Given the description of an element on the screen output the (x, y) to click on. 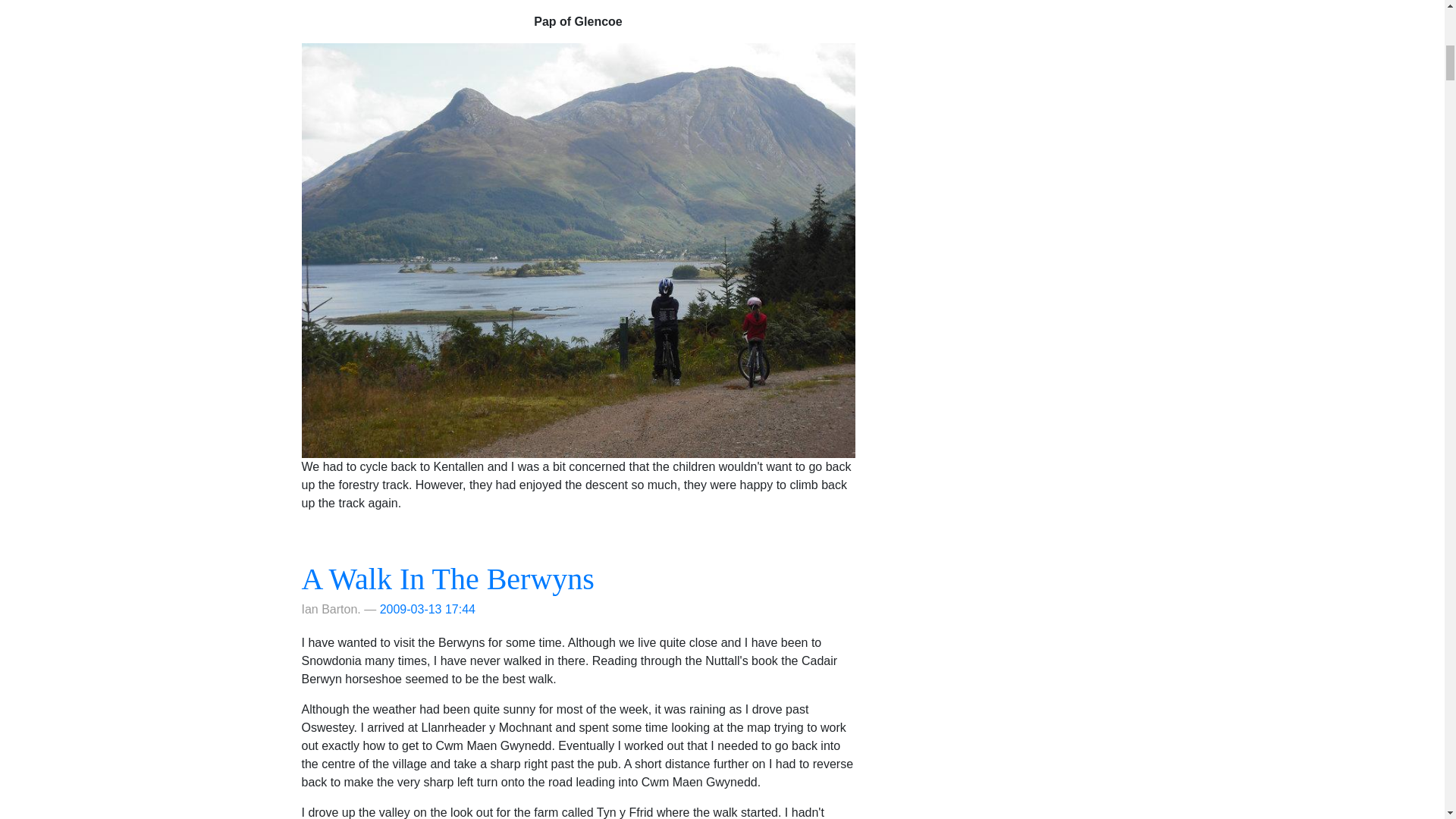
2009-03-13 17:44 (428, 608)
A Walk In The Berwyns (447, 578)
2009-03-13 17:44 (428, 608)
